Given the description of an element on the screen output the (x, y) to click on. 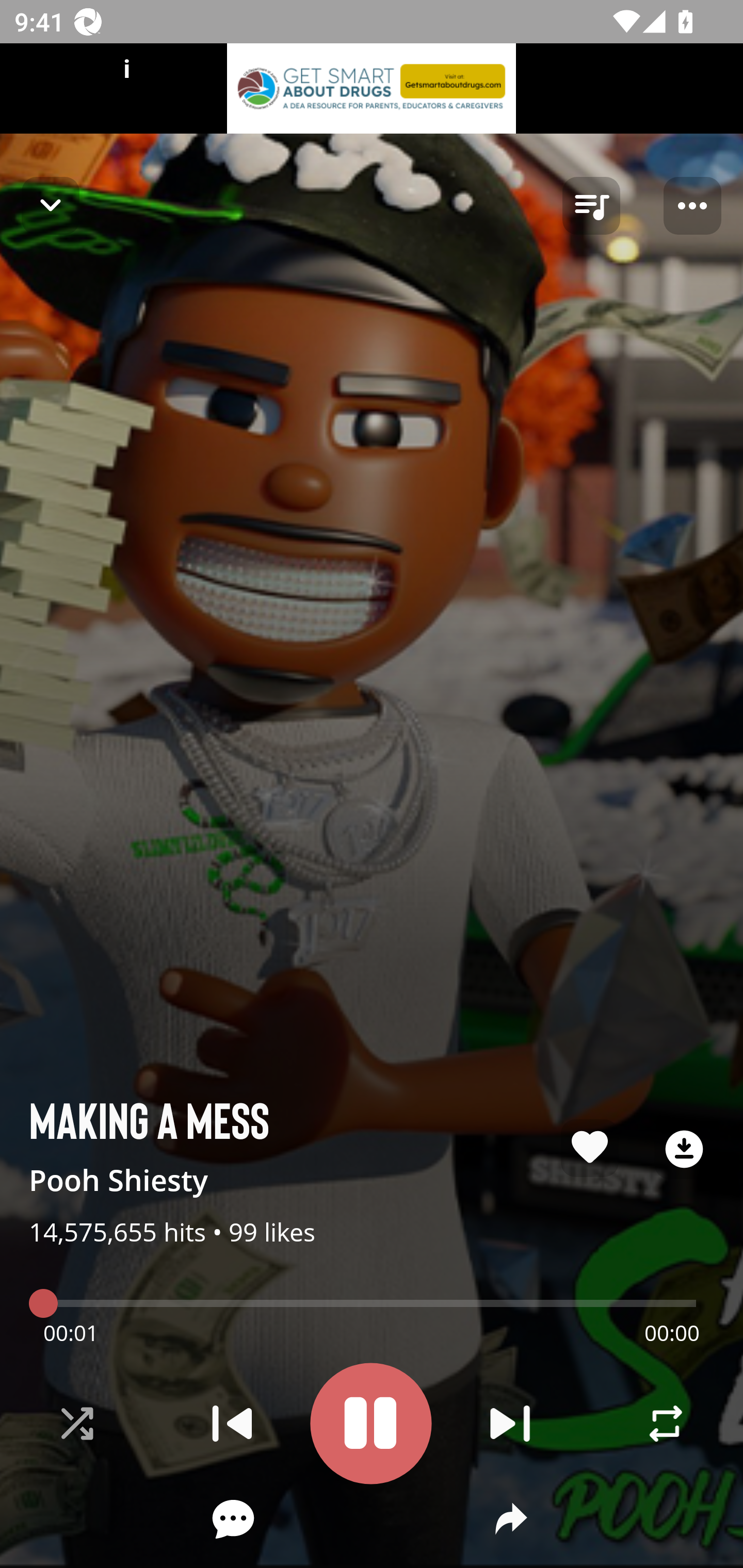
Navigate up (50, 205)
queue (590, 206)
Player options (692, 206)
